Given the description of an element on the screen output the (x, y) to click on. 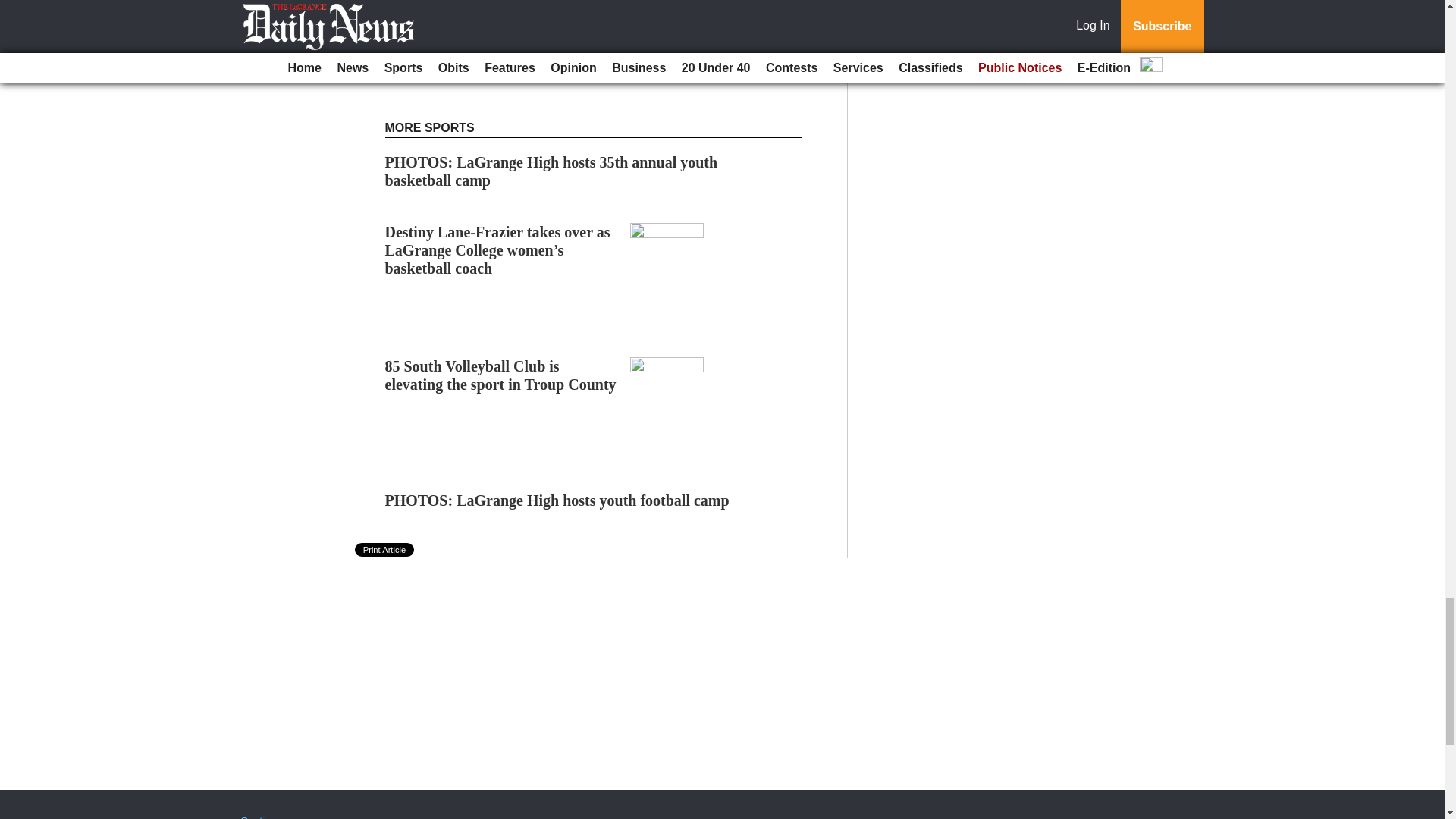
PHOTOS: LaGrange High hosts youth football camp (557, 500)
Print Article (384, 549)
PHOTOS: LaGrange High hosts youth football camp (557, 500)
